Given the description of an element on the screen output the (x, y) to click on. 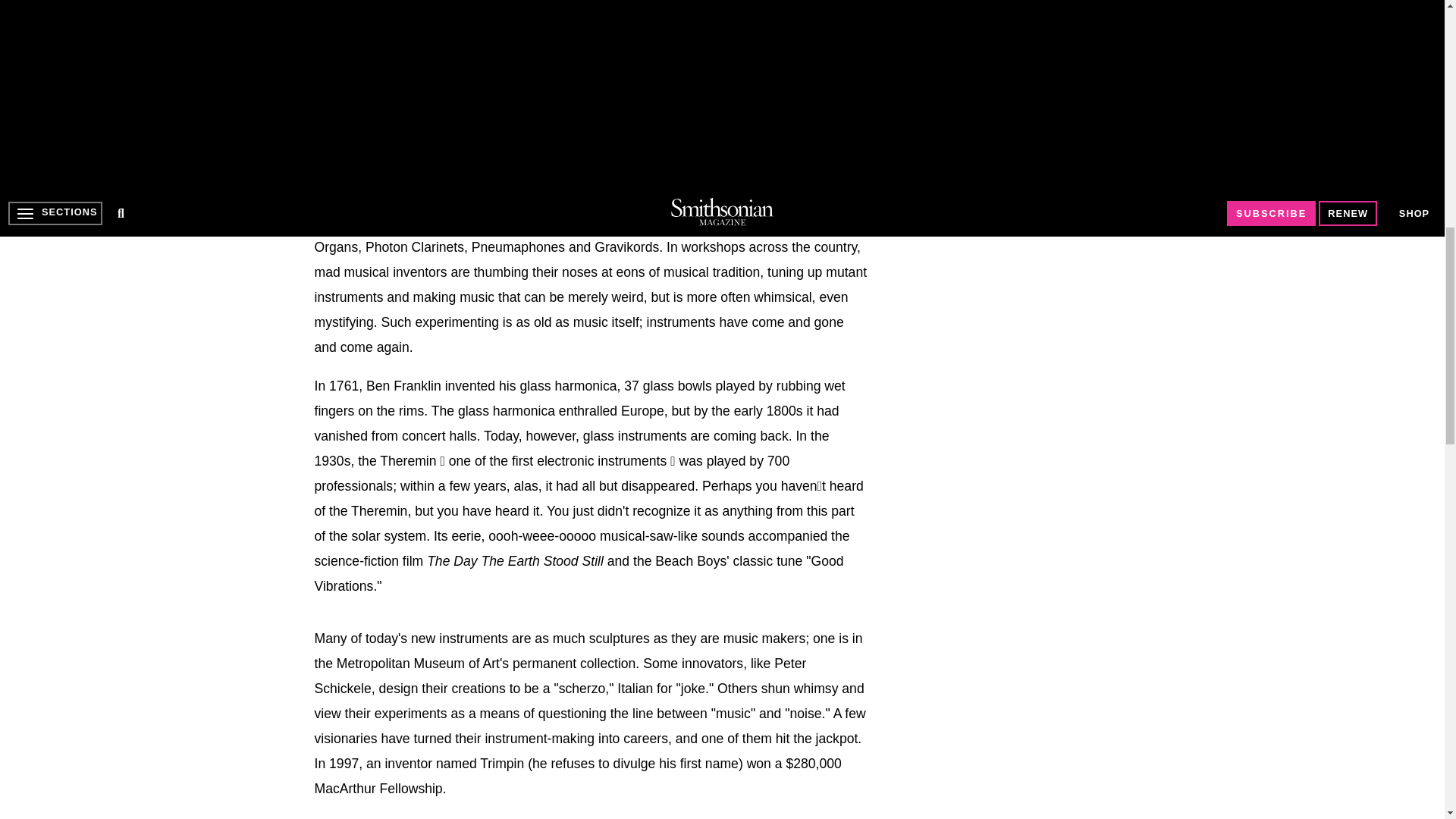
Print (511, 176)
Twitter (357, 176)
Pocket (480, 176)
WhatsApp (450, 176)
Email (542, 176)
Reddit (418, 176)
Facebook (325, 176)
LinkedIn (387, 176)
